Given the description of an element on the screen output the (x, y) to click on. 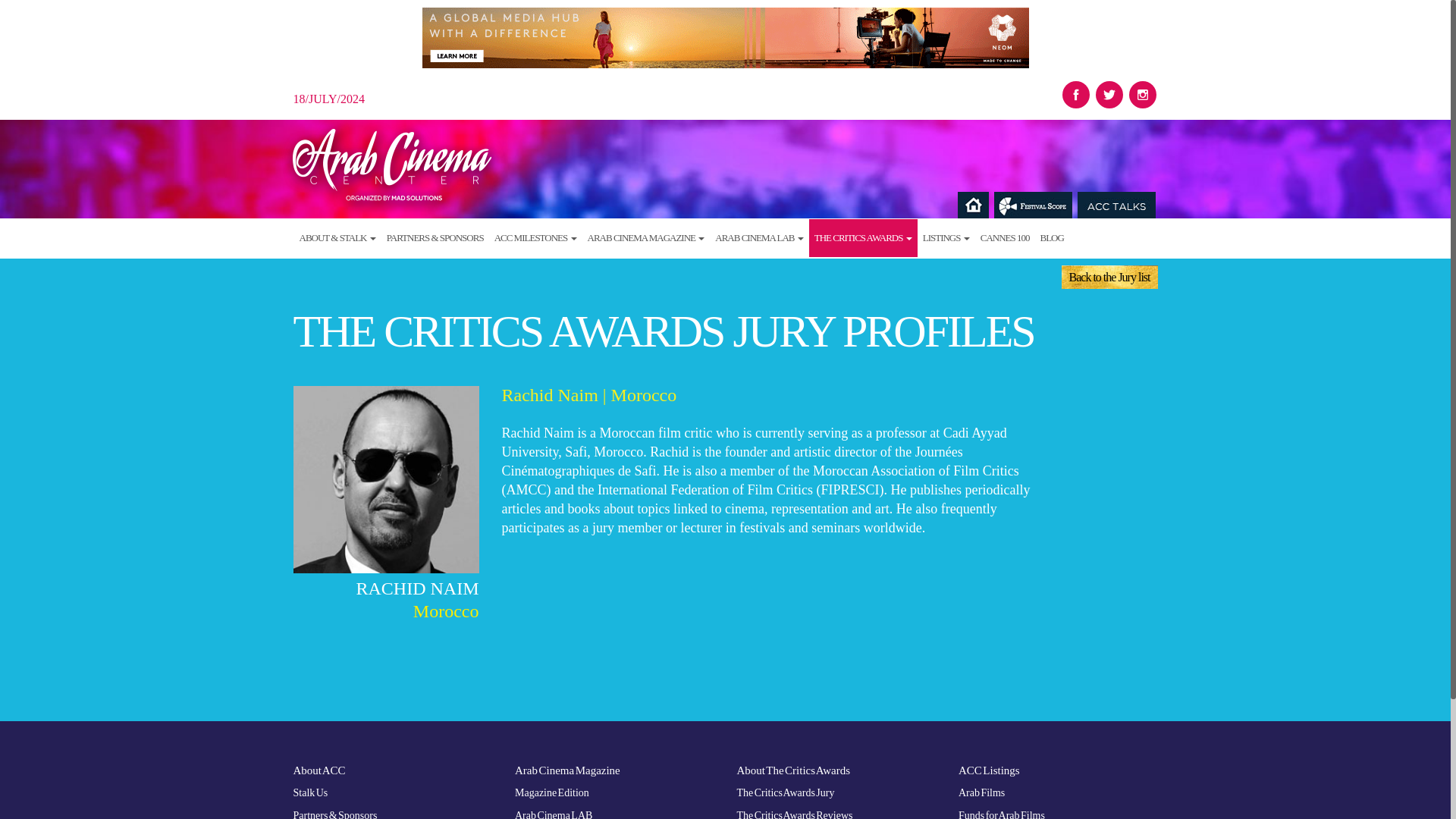
ACC MILESTONES (535, 238)
ARAB CINEMA LAB (759, 238)
ARAB CINEMA MAGAZINE (646, 238)
THE CRITICS AWARDS (863, 238)
